Given the description of an element on the screen output the (x, y) to click on. 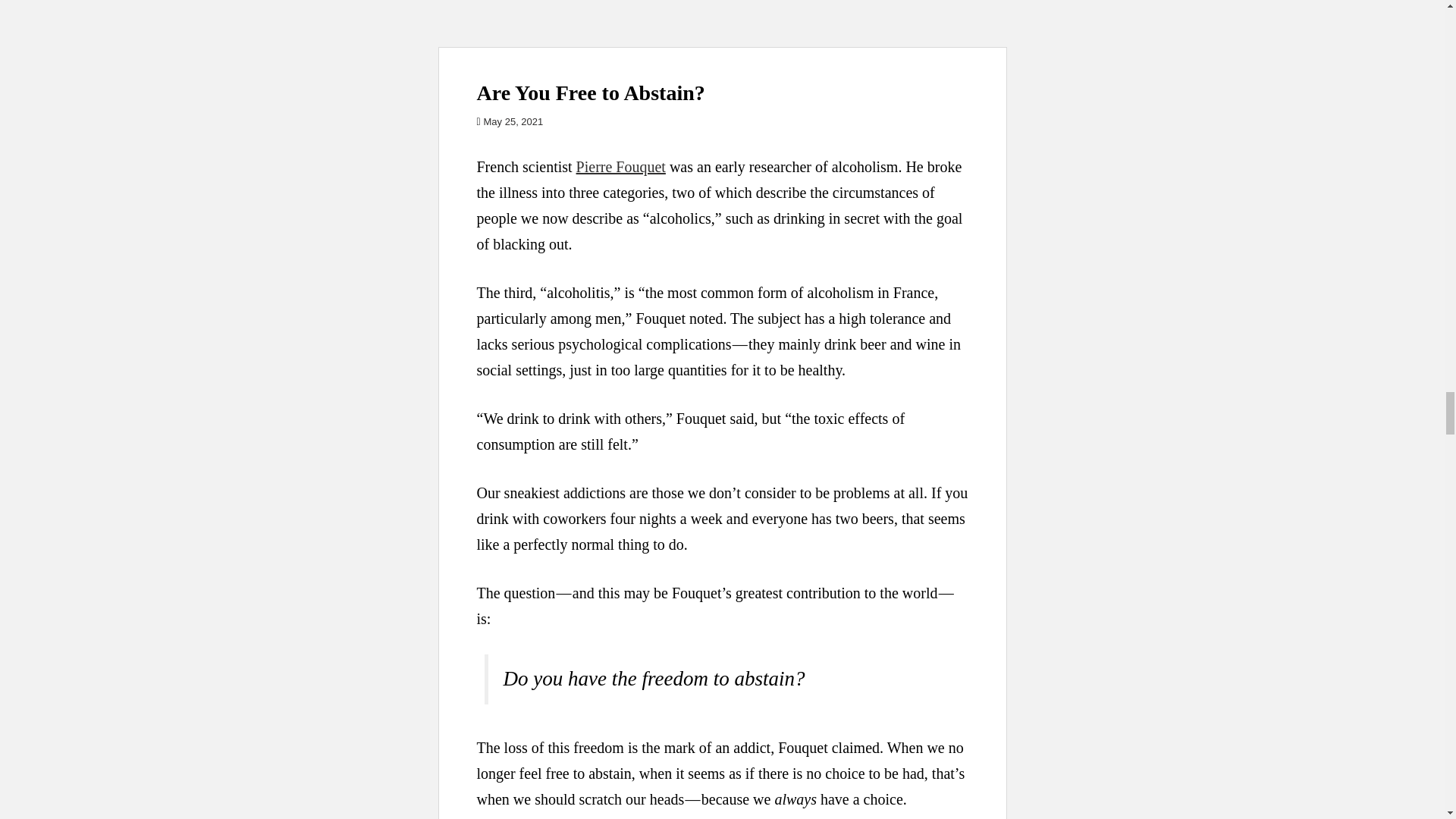
Are You Free to Abstain? (722, 23)
